Given the description of an element on the screen output the (x, y) to click on. 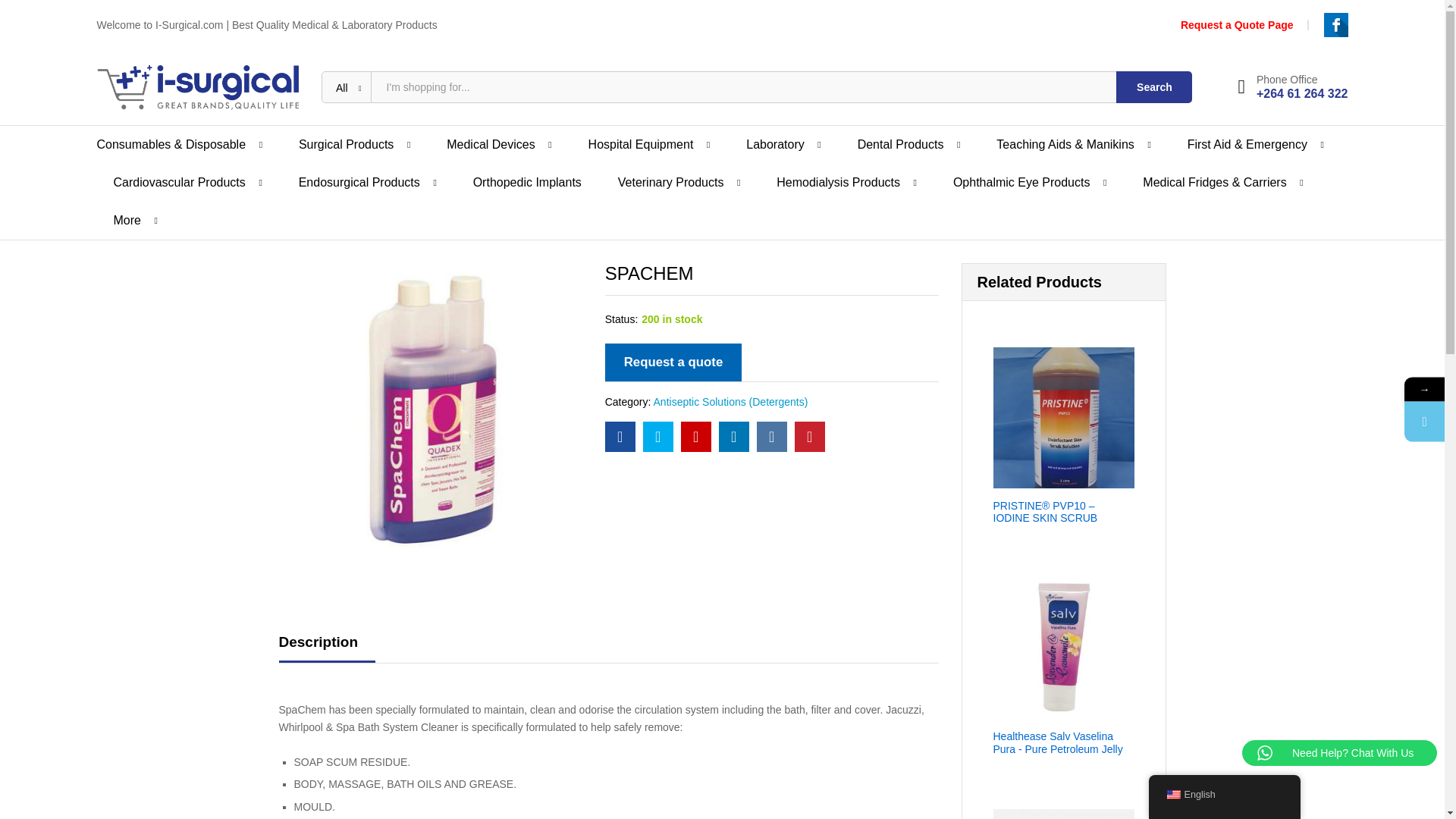
SPACHEM (696, 436)
SPACHEM (657, 436)
English (1172, 794)
Hospital Equipment (641, 144)
SPACHEM (809, 436)
Request a Quote Page (1237, 24)
Search (1154, 87)
SPACHEM (734, 436)
SPACHEM (619, 436)
SPACHEM (772, 436)
Surgical Products (345, 144)
Medical Devices (490, 144)
